Given the description of an element on the screen output the (x, y) to click on. 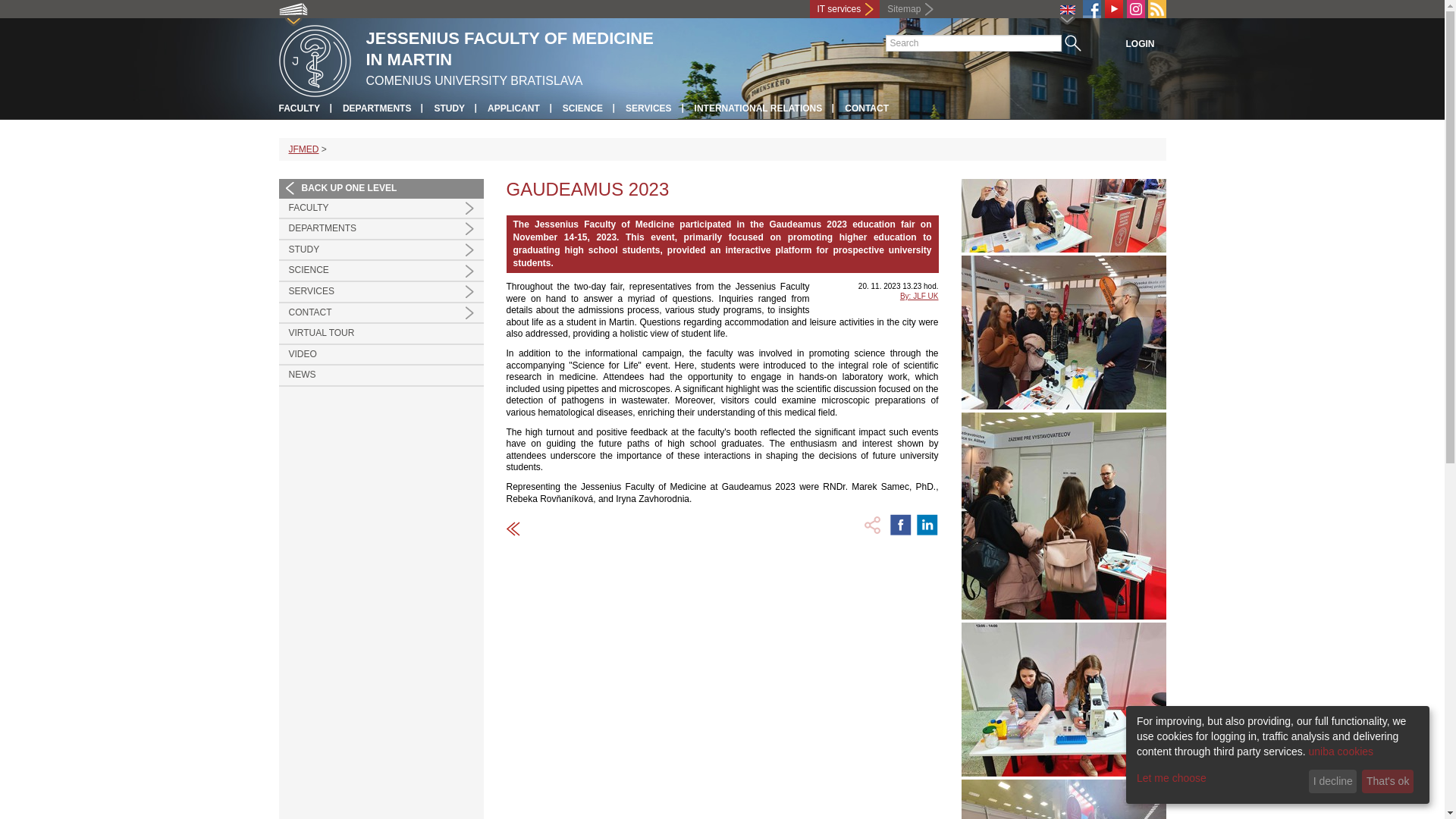
BACK UP ONE LEVEL (381, 189)
FACULTY (381, 208)
RSS (1157, 9)
SERVICES (648, 108)
APPLICANT (513, 108)
JFMED (303, 149)
Sitemap (909, 9)
SERVICES (381, 291)
STUDY (448, 108)
List of faculties (293, 12)
INTERNATIONAL RELATIONS (758, 108)
Sitemap (909, 9)
FACULTY (299, 108)
SCIENCE (582, 108)
DEPARTMENTS (381, 229)
